Given the description of an element on the screen output the (x, y) to click on. 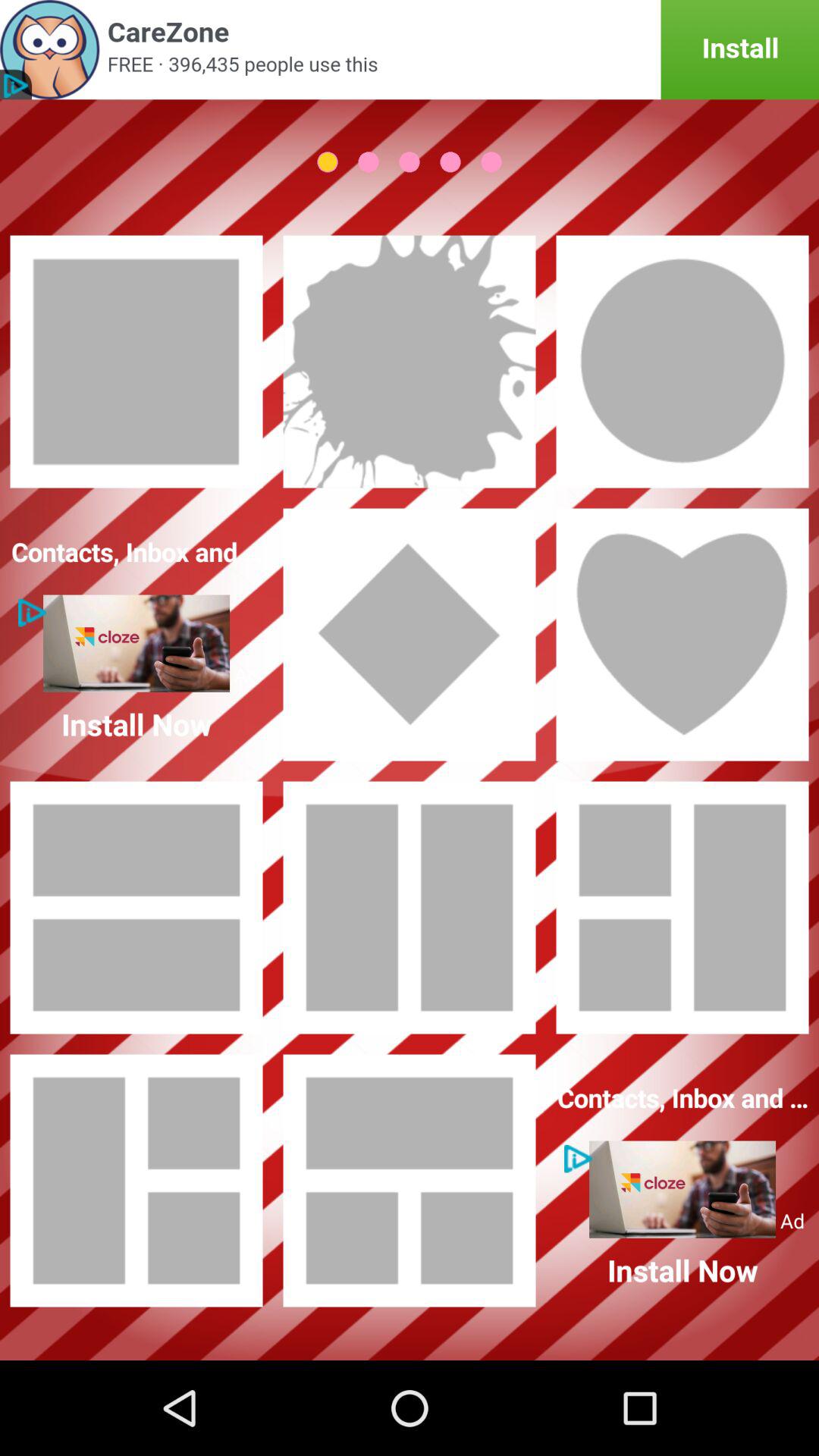
view this app on the app store (409, 49)
